Given the description of an element on the screen output the (x, y) to click on. 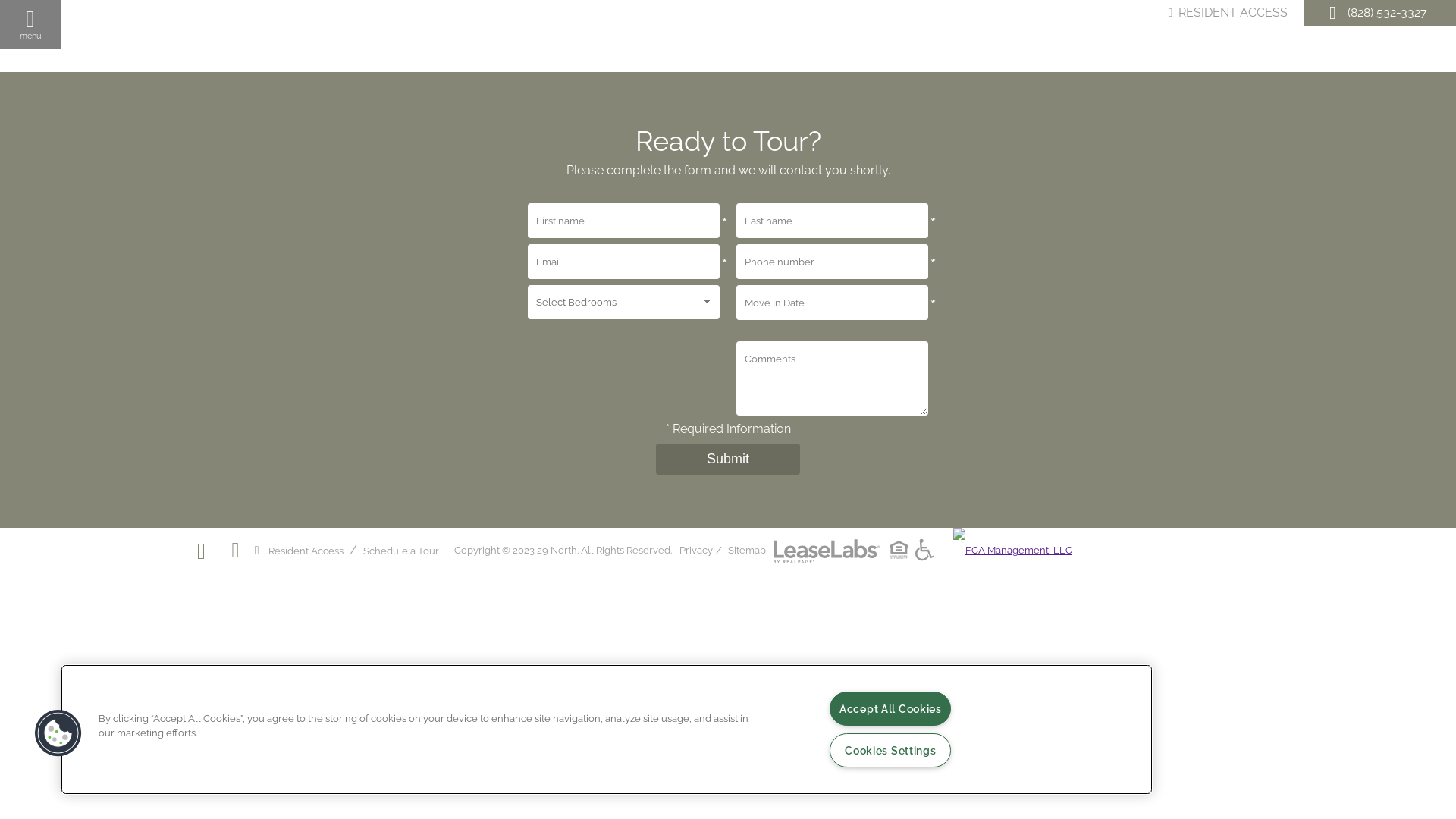
First name Element type: hover (623, 220)
Comments Element type: hover (832, 378)
Accept All Cookies Element type: text (889, 708)
FCA Management, LLC Element type: hover (1012, 550)
RESIDENT ACCESS Element type: text (1227, 12)
Schedule a Tour Element type: text (401, 550)
Submit Element type: text (727, 458)
Cookies Settings Element type: text (889, 750)
(828) 532-3327 Element type: text (1387, 12)
Move In Date Element type: hover (832, 302)
Privacy Element type: text (695, 549)
Resident Access Element type: text (305, 550)
Cookies Button Element type: text (58, 733)
Sitemap Element type: text (746, 549)
image/svg+xml Element type: text (826, 549)
Email Element type: hover (623, 261)
Phone number Element type: hover (832, 261)
Last name Element type: hover (832, 220)
